Given the description of an element on the screen output the (x, y) to click on. 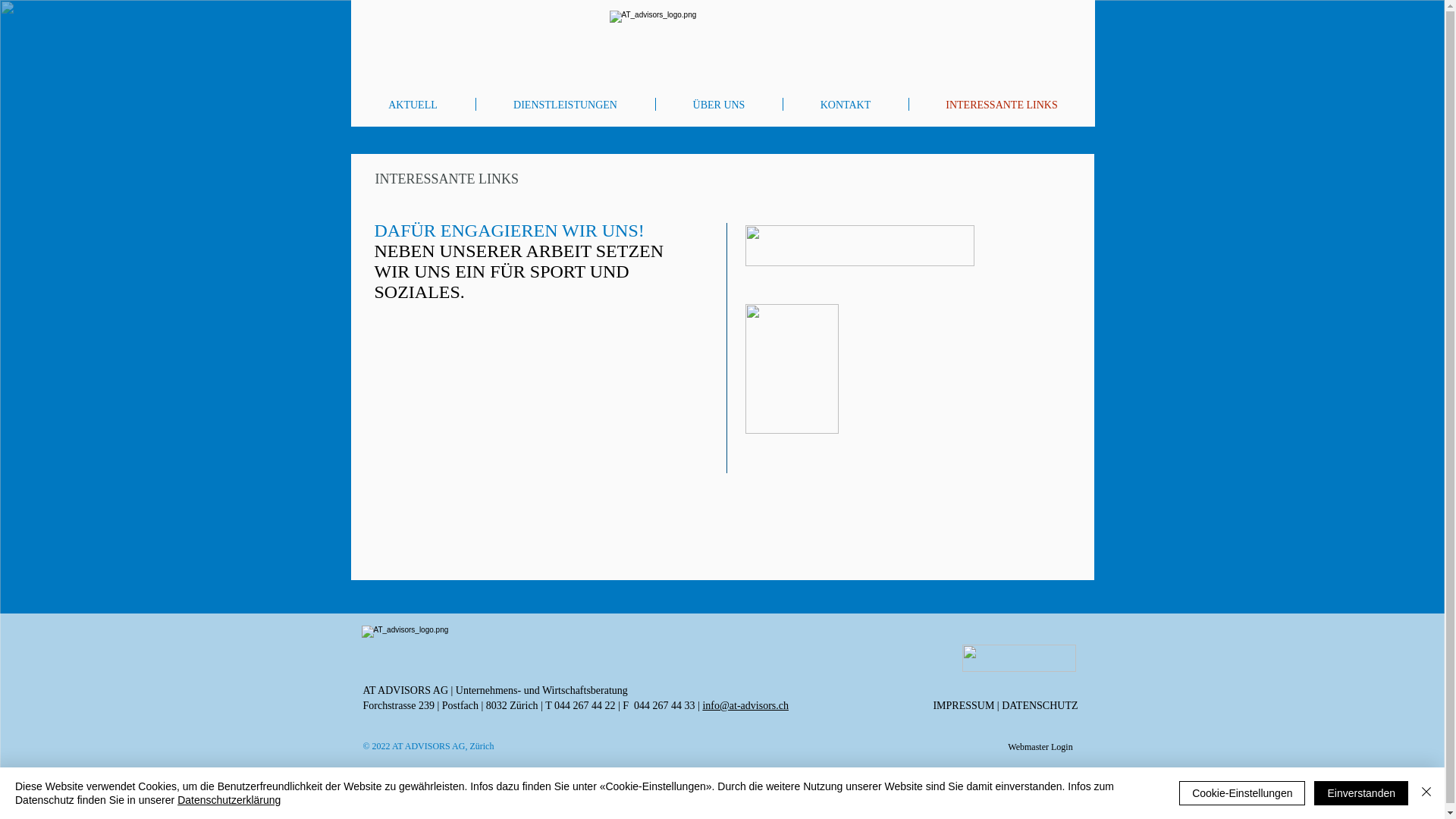
AKTUELL Element type: text (412, 103)
info@at-advisors.ch Element type: text (745, 705)
Webmaster Login Element type: text (1040, 746)
INTERESSANTE LINKS Element type: text (1001, 103)
Cookie-Einstellungen Element type: text (1242, 793)
Einverstanden Element type: text (1361, 793)
KONTAKT Element type: text (844, 103)
IMPRESSUM | DATENSCHUTZ Element type: text (1004, 705)
